Given the description of an element on the screen output the (x, y) to click on. 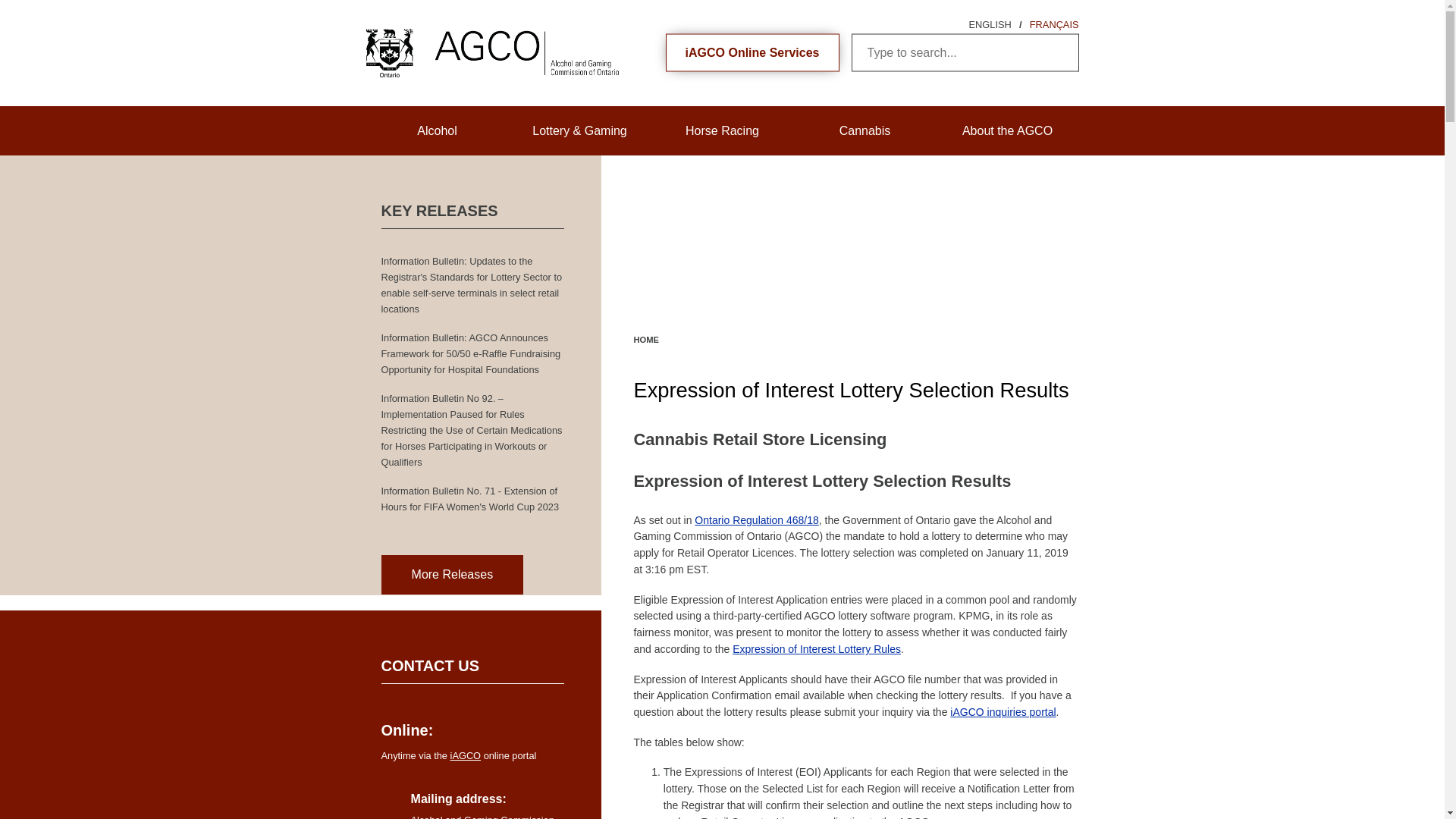
Skip to main content Element type: text (54, 0)
Ontario Regulation 468/18 Element type: text (756, 520)
HOME Element type: text (645, 339)
Search Element type: text (1060, 52)
ENGLISH Element type: text (990, 24)
Enter the terms you wish to search for. Element type: hover (964, 53)
iAGCO Online Services Element type: text (752, 53)
menu Element type: text (26, 20)
iAGCO Element type: text (465, 755)
View sitemap Element type: text (36, 0)
iAGCO inquiries portal Element type: text (1002, 712)
More Releases Element type: text (451, 574)
Alcohol and Gaming Commission of Ontario Element type: hover (460, 52)
Expression of Interest Lottery Rules Element type: text (816, 649)
